Given the description of an element on the screen output the (x, y) to click on. 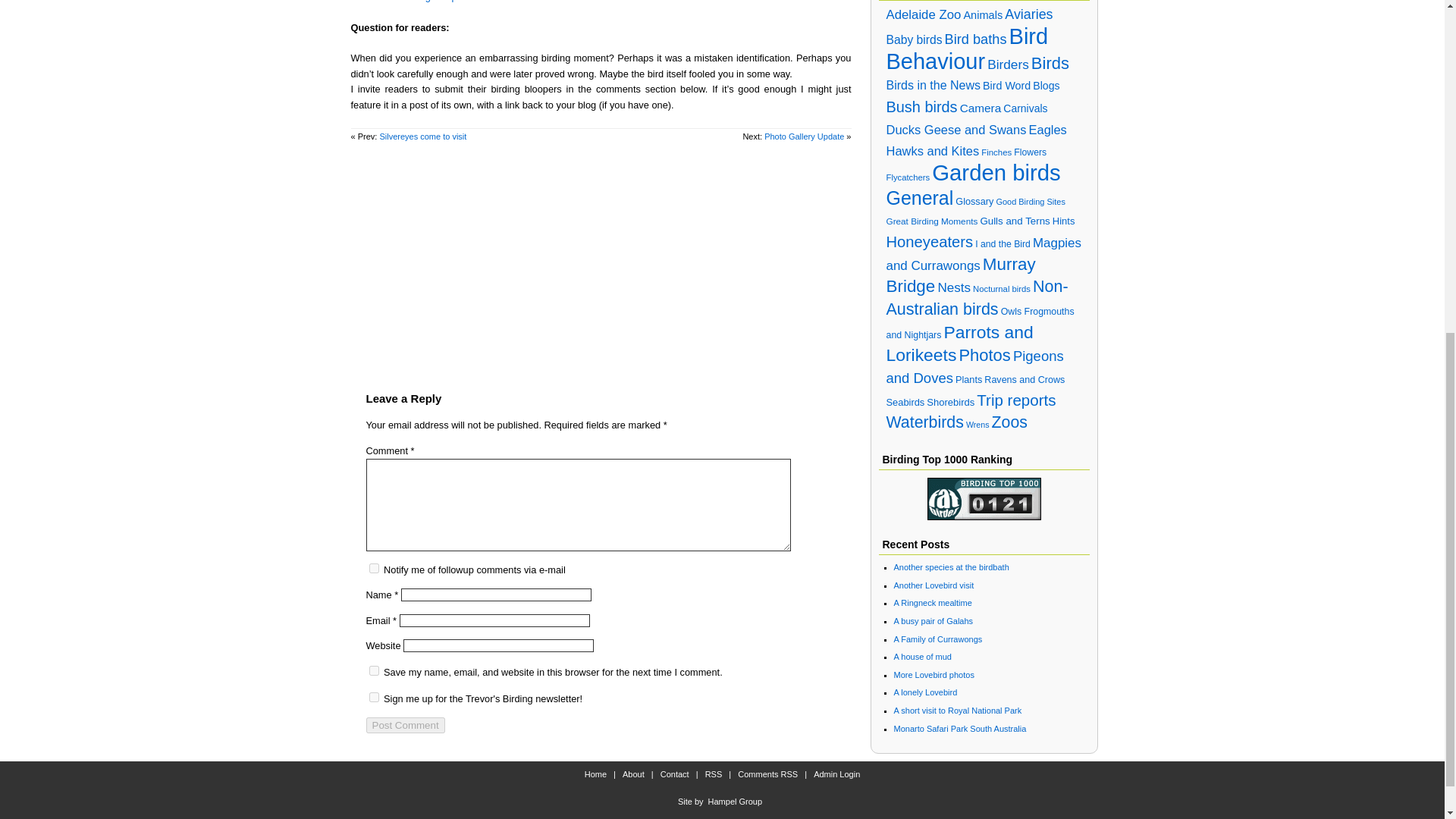
yes (373, 670)
Silvereyes come to visit (421, 135)
Photo Gallery Update (804, 135)
Birds (1049, 63)
Advertisement (600, 258)
Adelaide Zoo (922, 14)
Baby birds (913, 39)
Animals (982, 15)
Post Comment (404, 725)
Bird Behaviour (966, 48)
Birding bloopers (446, 1)
Birds in the News (932, 84)
Post Comment (404, 725)
Bird baths (975, 38)
1 (373, 696)
